Given the description of an element on the screen output the (x, y) to click on. 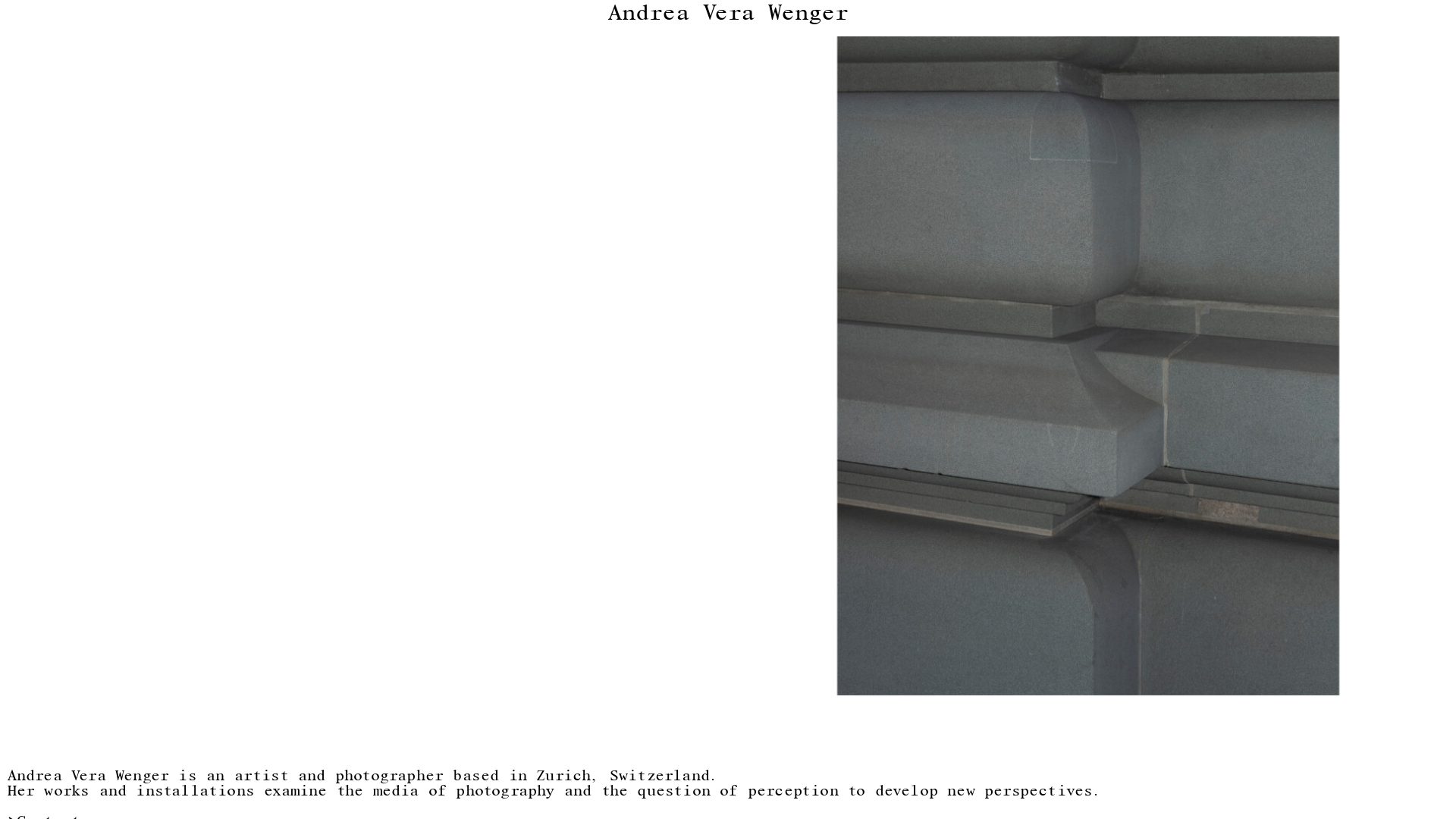
Andrea Vera Wenger Element type: text (728, 13)
